Given the description of an element on the screen output the (x, y) to click on. 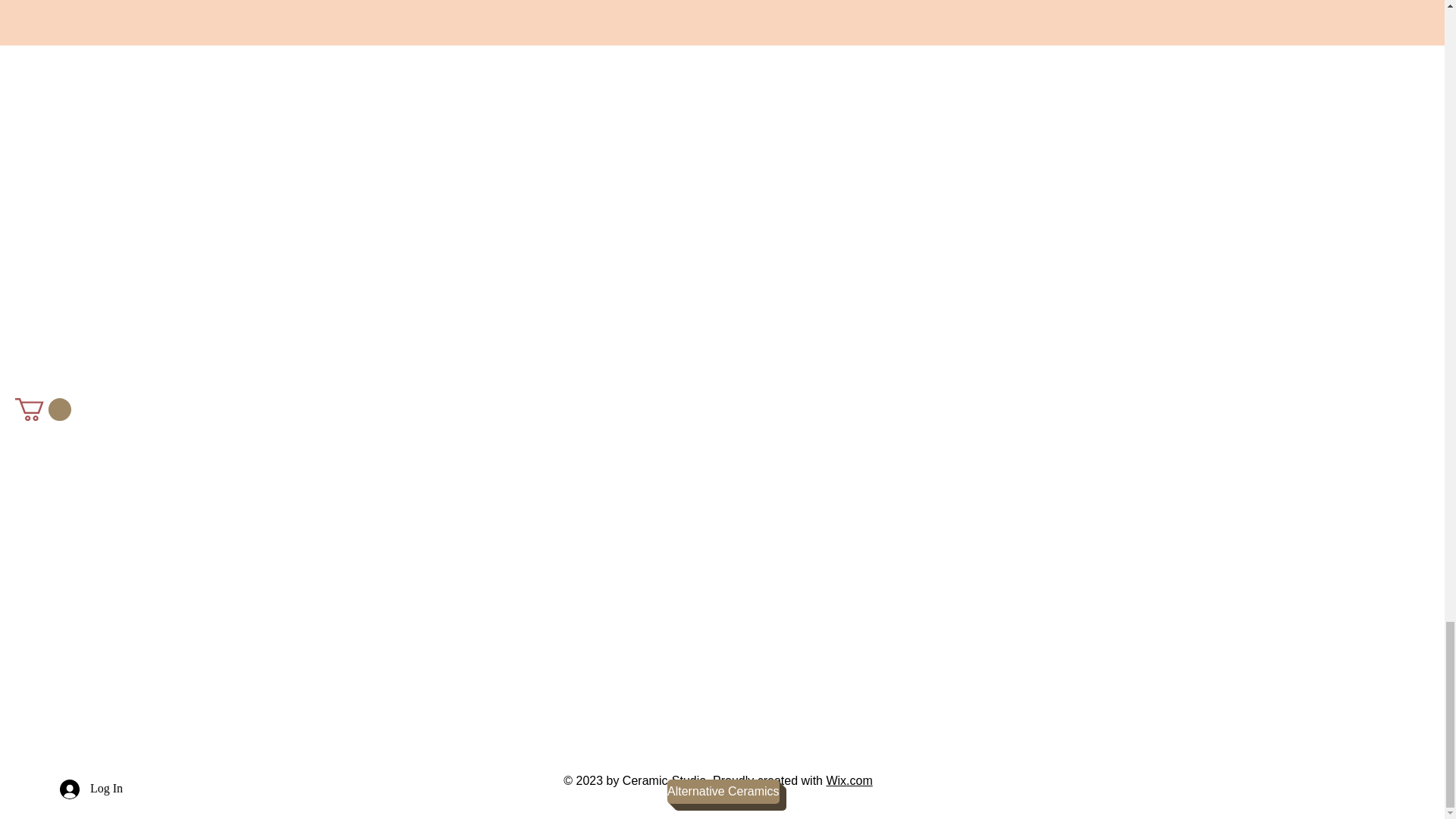
Wix.com (848, 780)
